Given the description of an element on the screen output the (x, y) to click on. 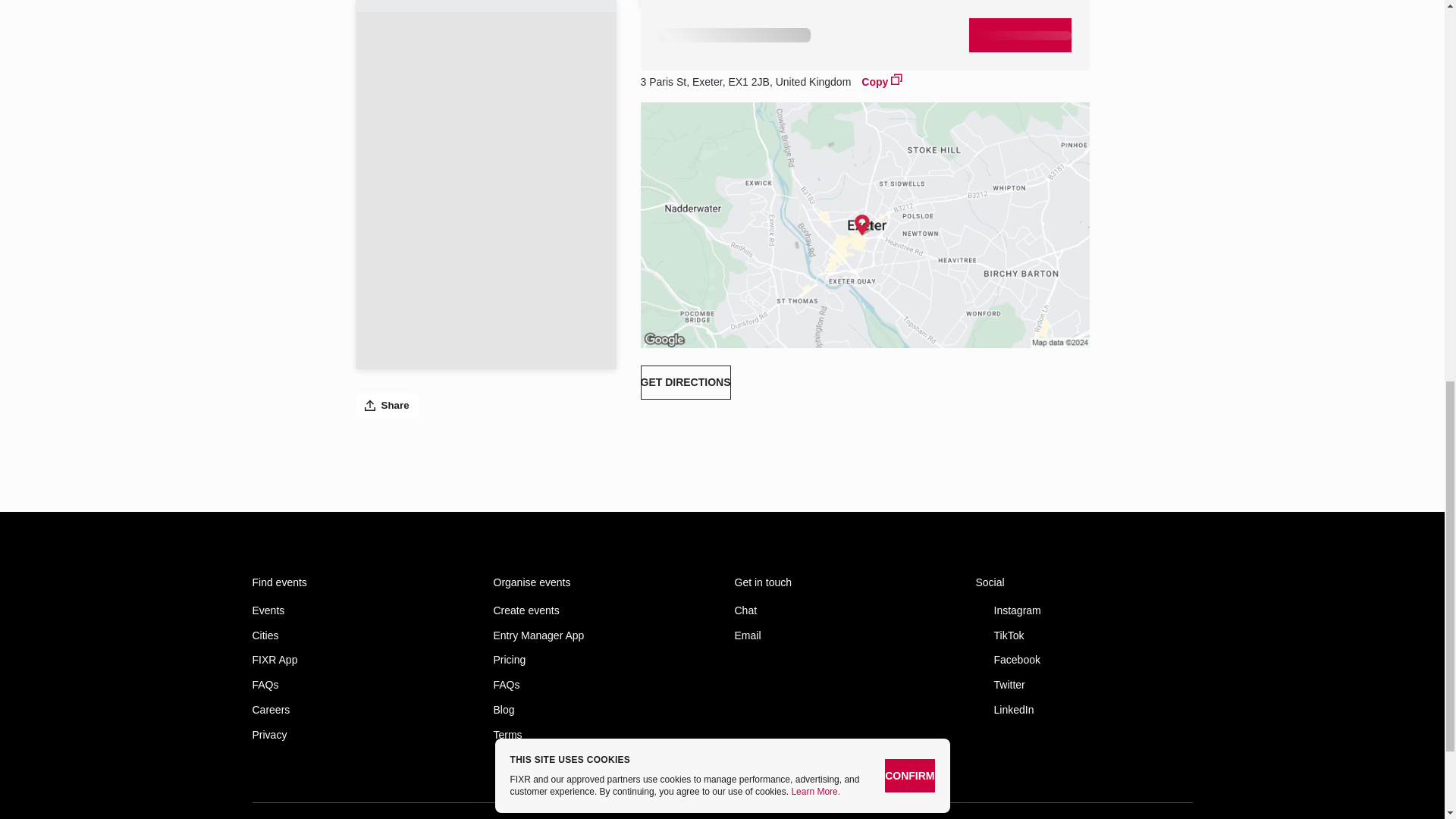
Twitter (1083, 684)
Blog (601, 709)
Entry Manager App (601, 635)
Privacy (359, 735)
LinkedIn (1083, 709)
FAQs (359, 684)
Instagram (1083, 610)
Careers (359, 709)
Terms (601, 735)
Pricing (601, 659)
Email (841, 635)
Create events (601, 610)
Facebook (1083, 659)
Copy (882, 80)
Cities (359, 635)
